Given the description of an element on the screen output the (x, y) to click on. 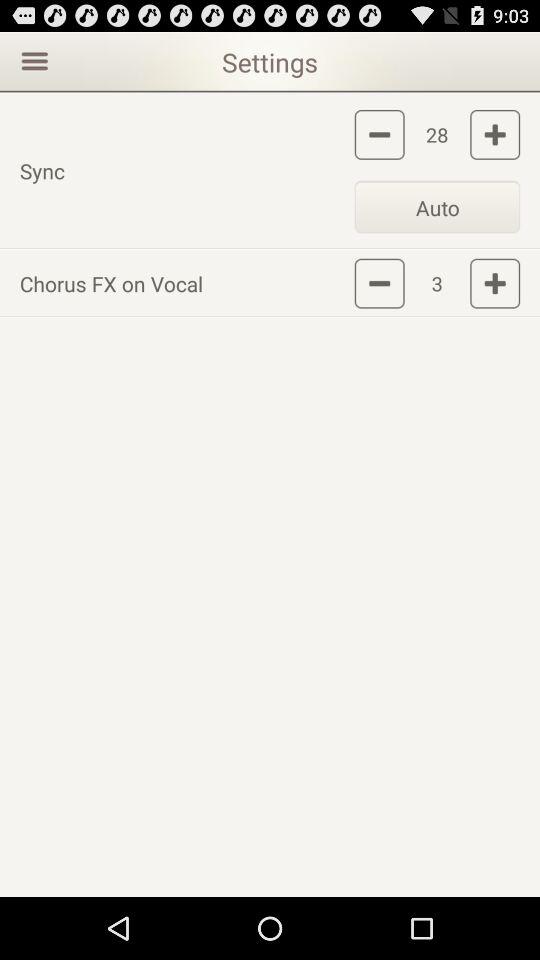
tap the item above the sync icon (32, 60)
